Given the description of an element on the screen output the (x, y) to click on. 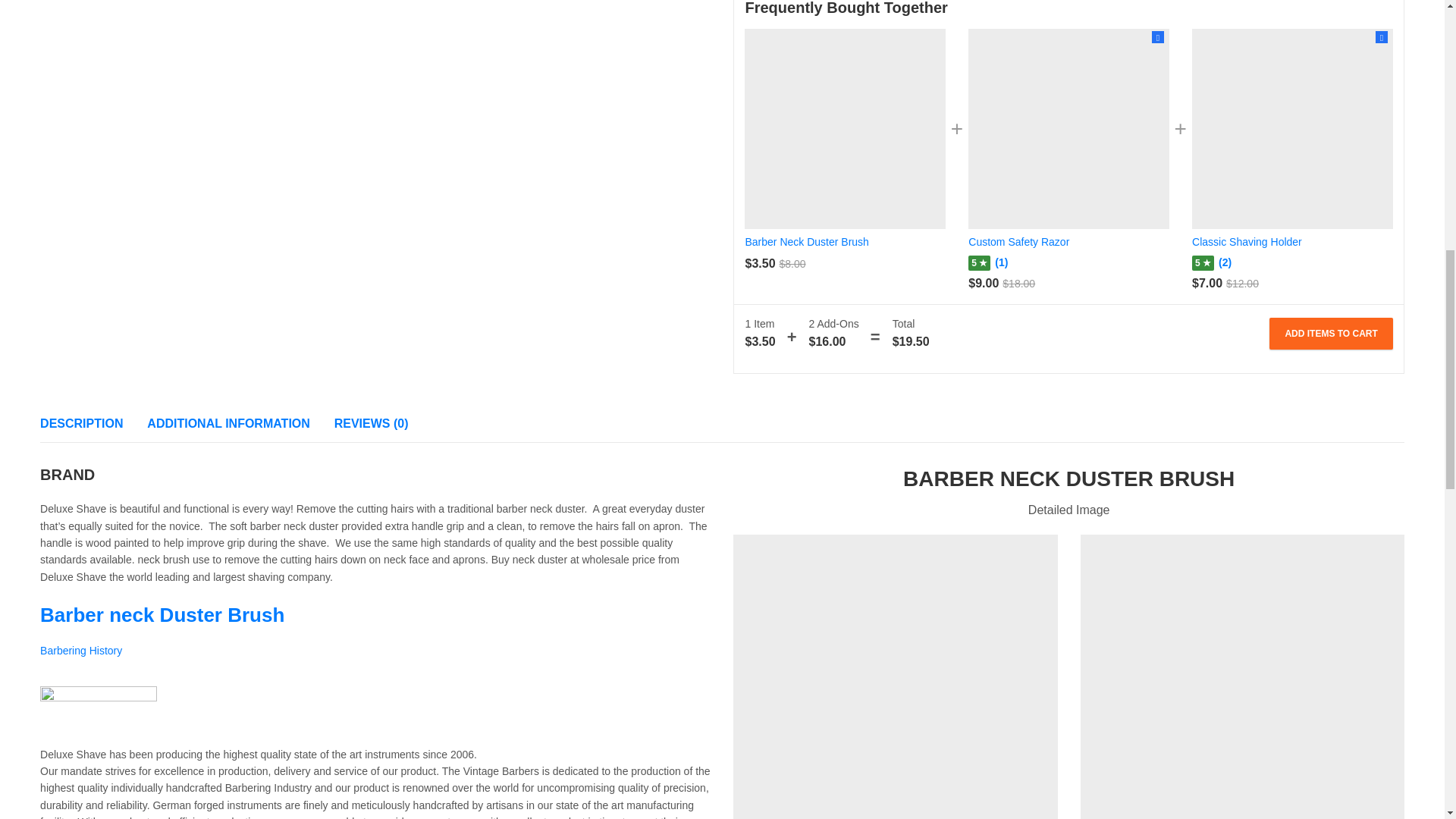
on (1381, 36)
550 (895, 676)
on (1157, 36)
549 (1242, 676)
